Given the description of an element on the screen output the (x, y) to click on. 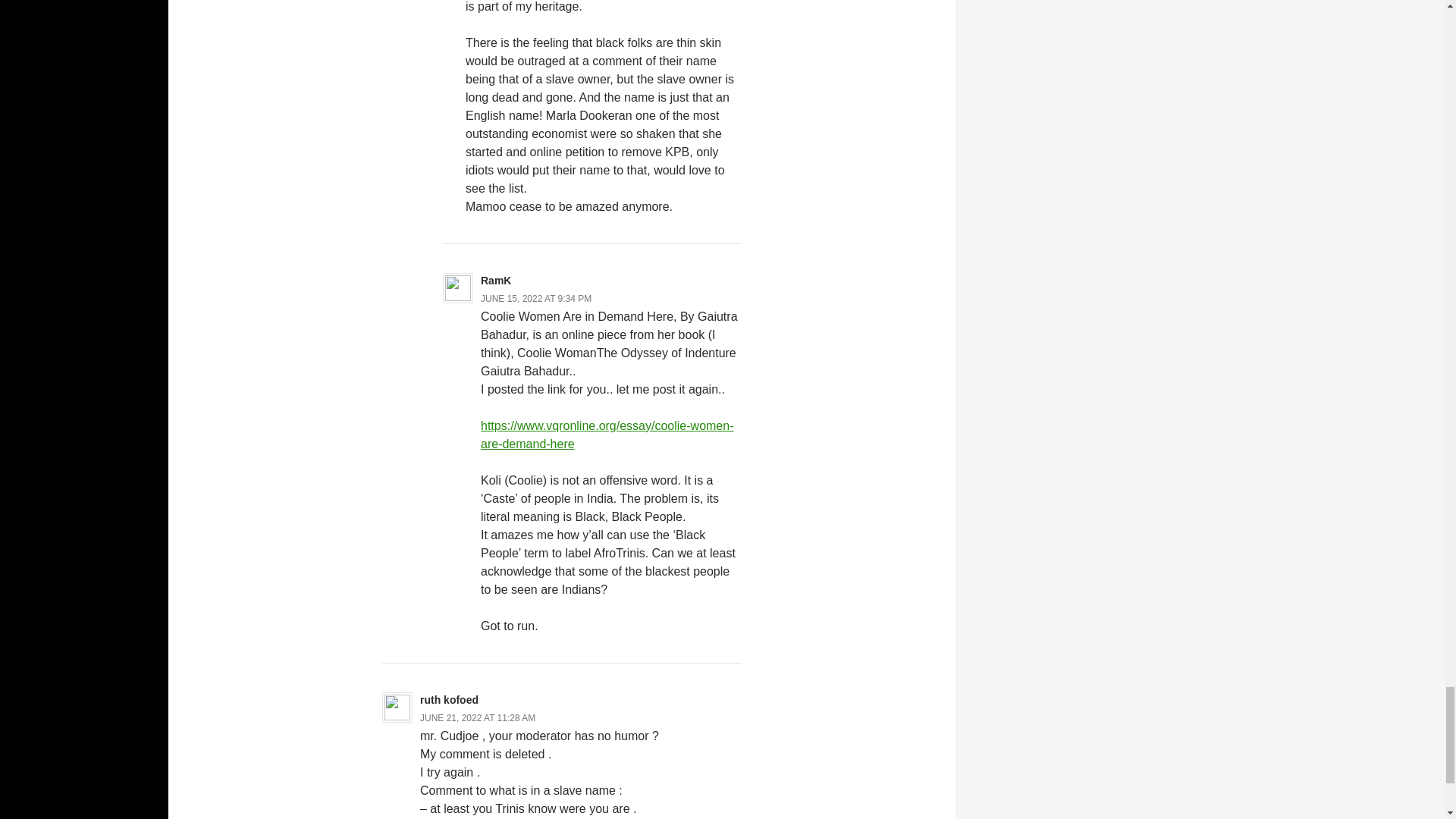
JUNE 15, 2022 AT 9:34 PM (535, 298)
ruth kofoed (449, 699)
JUNE 21, 2022 AT 11:28 AM (477, 717)
